Given the description of an element on the screen output the (x, y) to click on. 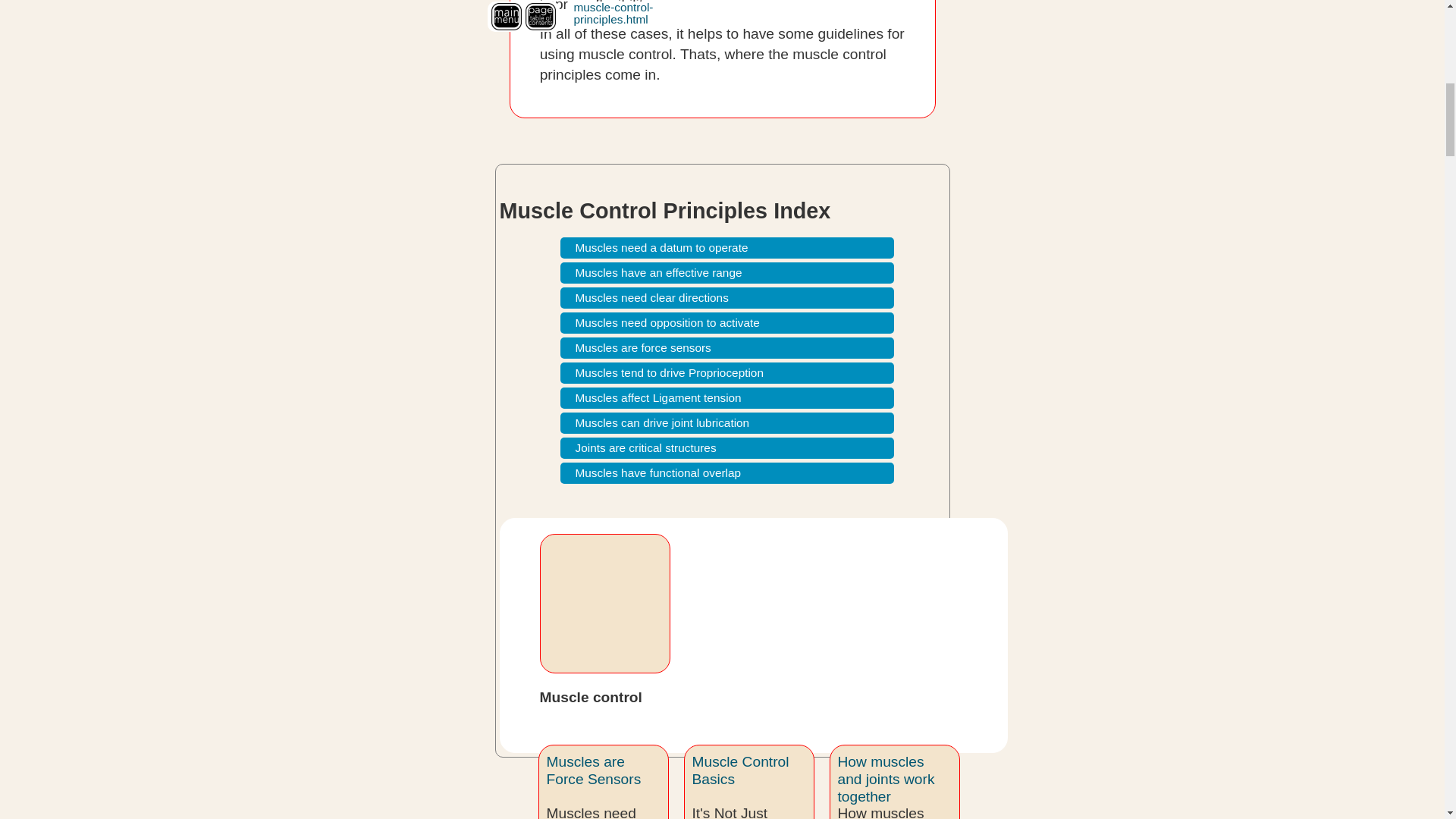
Muscles are force sensors (726, 347)
How muscles and joints work together (885, 778)
Muscles have an effective range (726, 272)
Muscles need a datum to operate (726, 247)
Muscles need clear directions (726, 297)
Muscles tend to drive Proprioception (726, 373)
Muscles can drive joint lubrication (726, 423)
Muscles have functional overlap (726, 473)
Muscles are Force Sensors (593, 770)
Muscle Control Basics (740, 770)
Joints are critical structures (726, 447)
Muscles need opposition to activate (726, 322)
Muscles affect Ligament tension (726, 397)
